Given the description of an element on the screen output the (x, y) to click on. 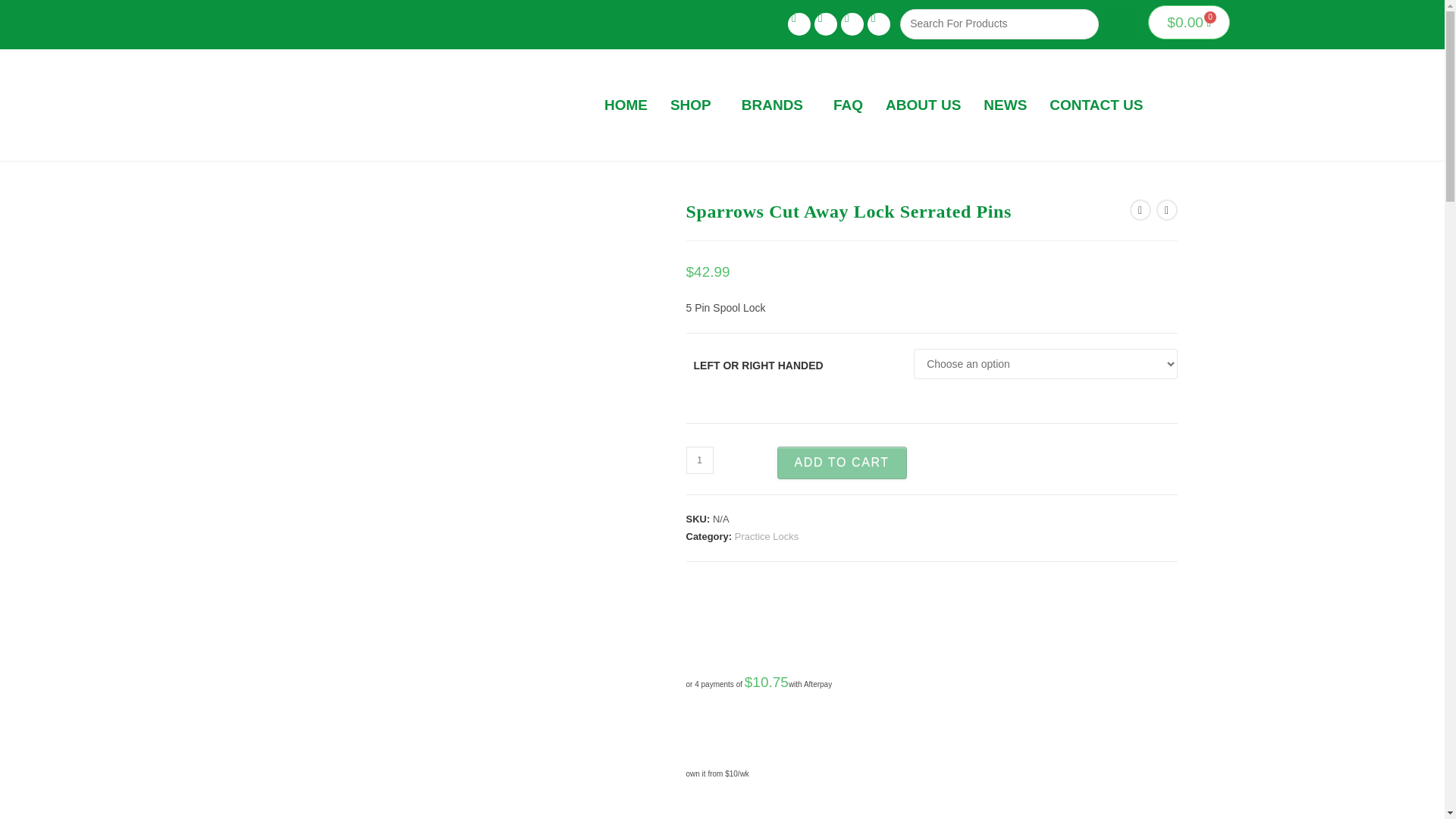
1 (699, 460)
HOME (625, 104)
CONTACT US (1096, 104)
SHOP (694, 104)
NEWS (1005, 104)
Qty (699, 460)
ABOUT US (923, 104)
BRANDS (776, 104)
FAQ (848, 104)
